Given the description of an element on the screen output the (x, y) to click on. 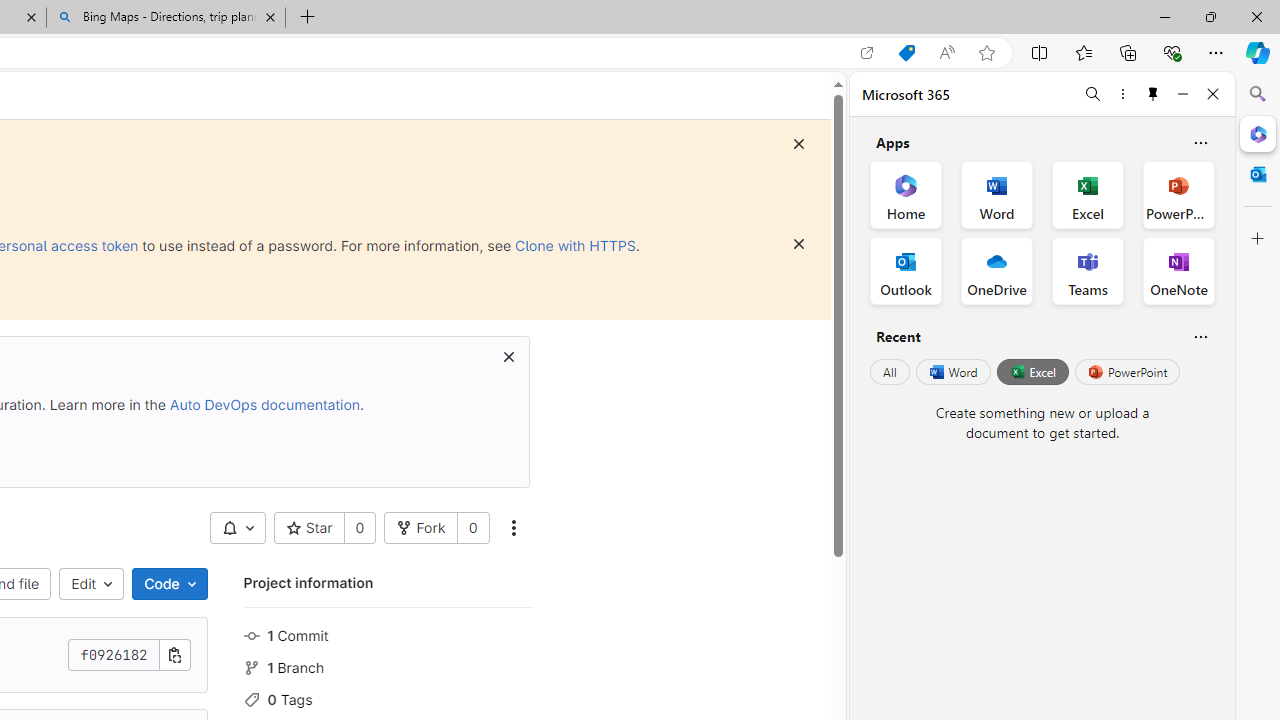
More actions (512, 527)
OneNote Office App (1178, 270)
Edit (91, 583)
Word (952, 372)
OneDrive Office App (996, 270)
1 Branch (387, 665)
Dismiss (799, 243)
Open in app (867, 53)
Outlook Office App (906, 270)
1 Commit (387, 633)
Class: s16 gl-icon gl-button-icon  (508, 357)
Copy commit SHA (173, 655)
 Star (308, 527)
